Given the description of an element on the screen output the (x, y) to click on. 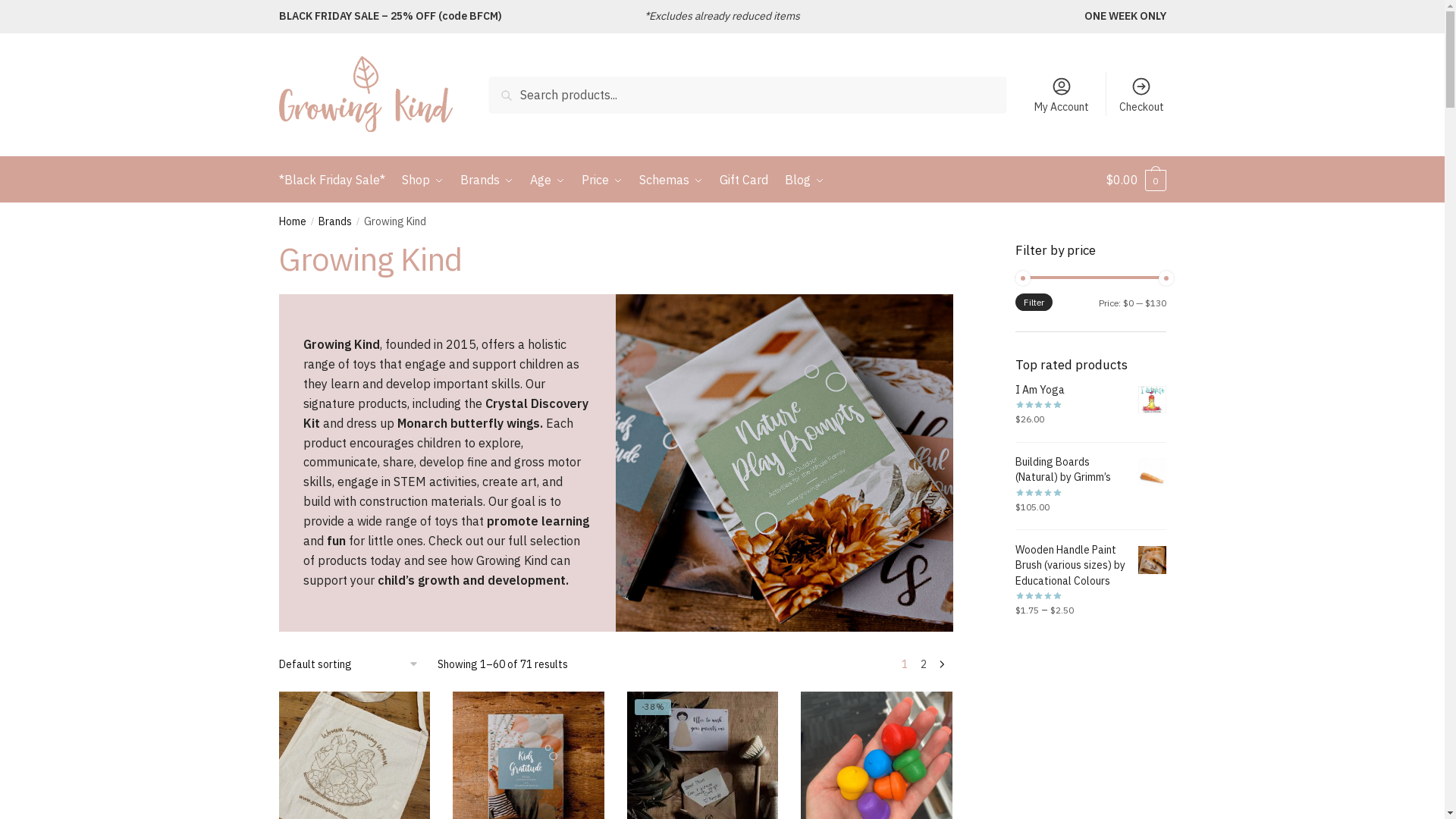
I Am Yoga Element type: text (1090, 389)
My Account Element type: text (1061, 94)
Search Element type: text (511, 86)
*Black Friday Sale* Element type: text (335, 179)
Blog Element type: text (804, 179)
Price Element type: text (601, 179)
Checkout Element type: text (1141, 94)
Shop Element type: text (422, 179)
Home Element type: text (292, 221)
Filter Element type: text (1033, 301)
Schemas Element type: text (670, 179)
Brands Element type: text (334, 221)
Brands Element type: text (486, 179)
$0.00 0 Element type: text (1135, 179)
Age Element type: text (547, 179)
2 Element type: text (923, 664)
Gift Card Element type: text (743, 179)
